Given the description of an element on the screen output the (x, y) to click on. 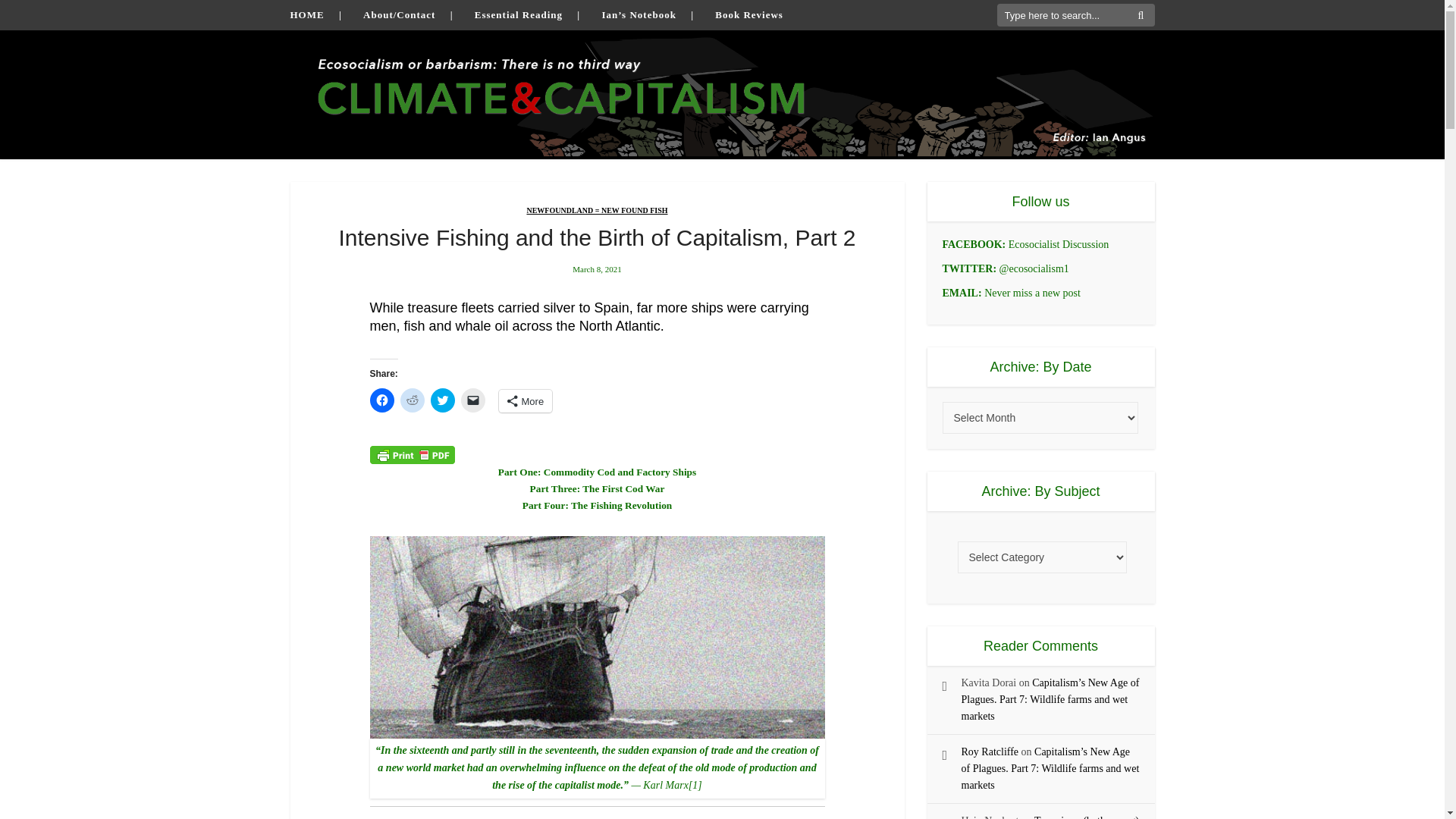
More (526, 400)
Click to share on Twitter (442, 400)
Type here to search... (1074, 15)
Book Reviews (748, 14)
Part Four: The Fishing Revolution (596, 505)
Click to email a link to a friend (472, 400)
Click to share on Facebook (381, 400)
Part Three: The First Cod War (597, 488)
Part One: Commodity Cod and Factory Ships (596, 471)
HOME (306, 14)
Click to share on Reddit (412, 400)
Essential Reading (518, 14)
Type here to search... (1074, 15)
